Given the description of an element on the screen output the (x, y) to click on. 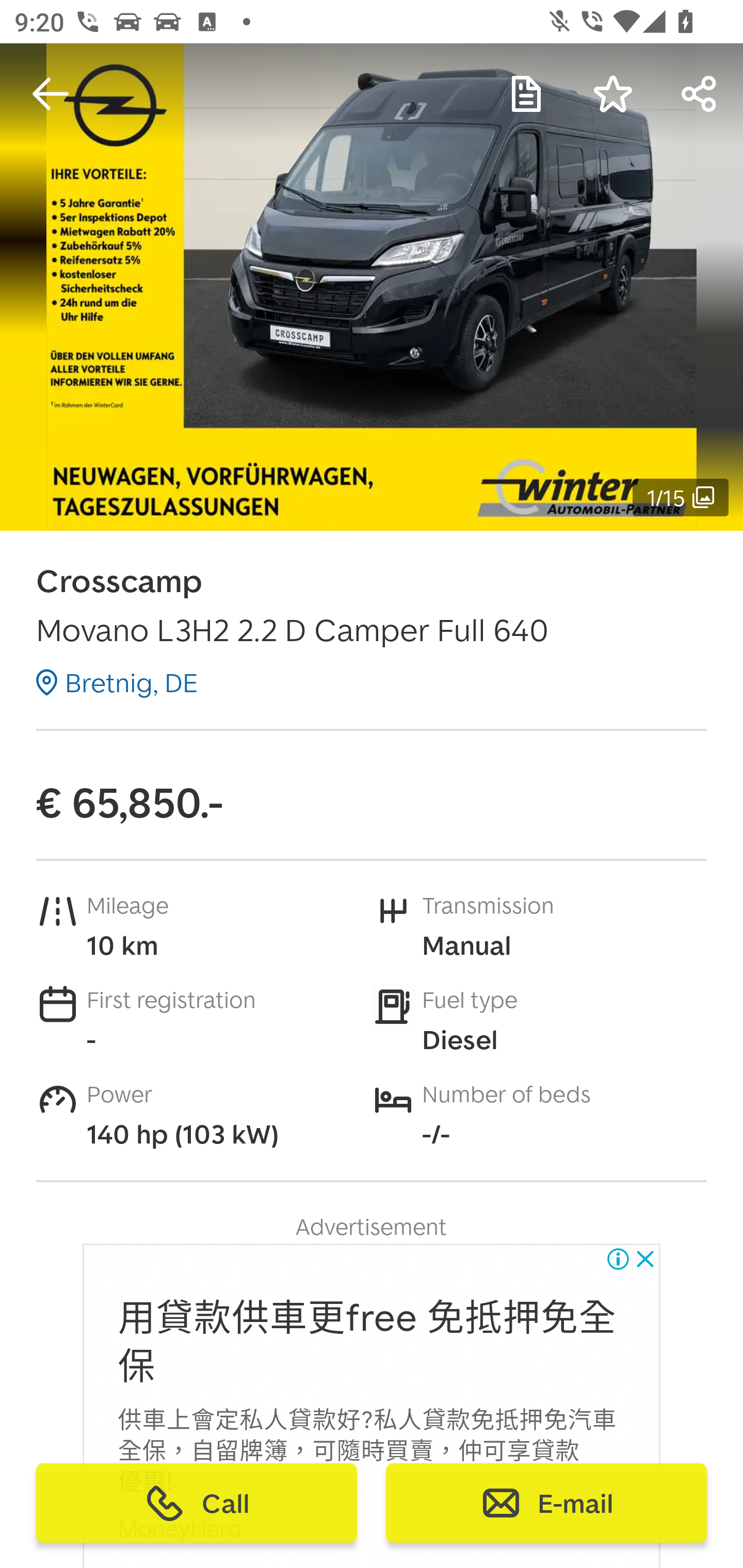
Navigate up (50, 93)
My Notes (525, 93)
Save (612, 93)
Forward (699, 93)
Bretnig, DE (117, 681)
用貸款供車更free 免抵押免全 保 用貸款供車更free 免抵押免全 保 (366, 1342)
Call (196, 1502)
E-mail (545, 1502)
